Given the description of an element on the screen output the (x, y) to click on. 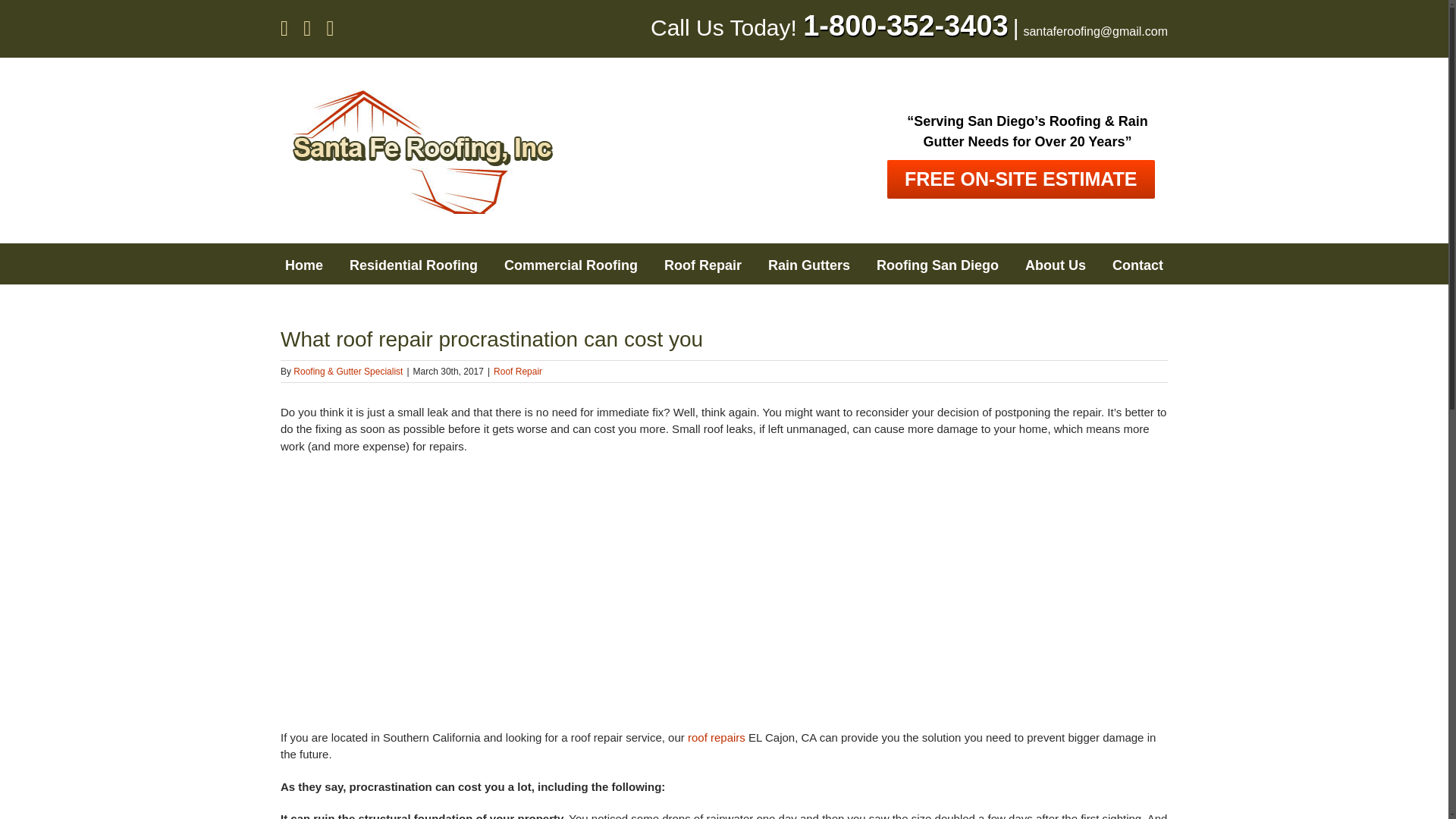
Contact (1137, 263)
Residential Roofing (413, 263)
About Us (1055, 263)
FREE ON-SITE ESTIMATE (1020, 179)
Roof Repair (517, 371)
Home (304, 263)
Rain Gutters (809, 263)
Roof Repair (702, 263)
Roofing San Diego (937, 263)
roof repairs (716, 737)
